Given the description of an element on the screen output the (x, y) to click on. 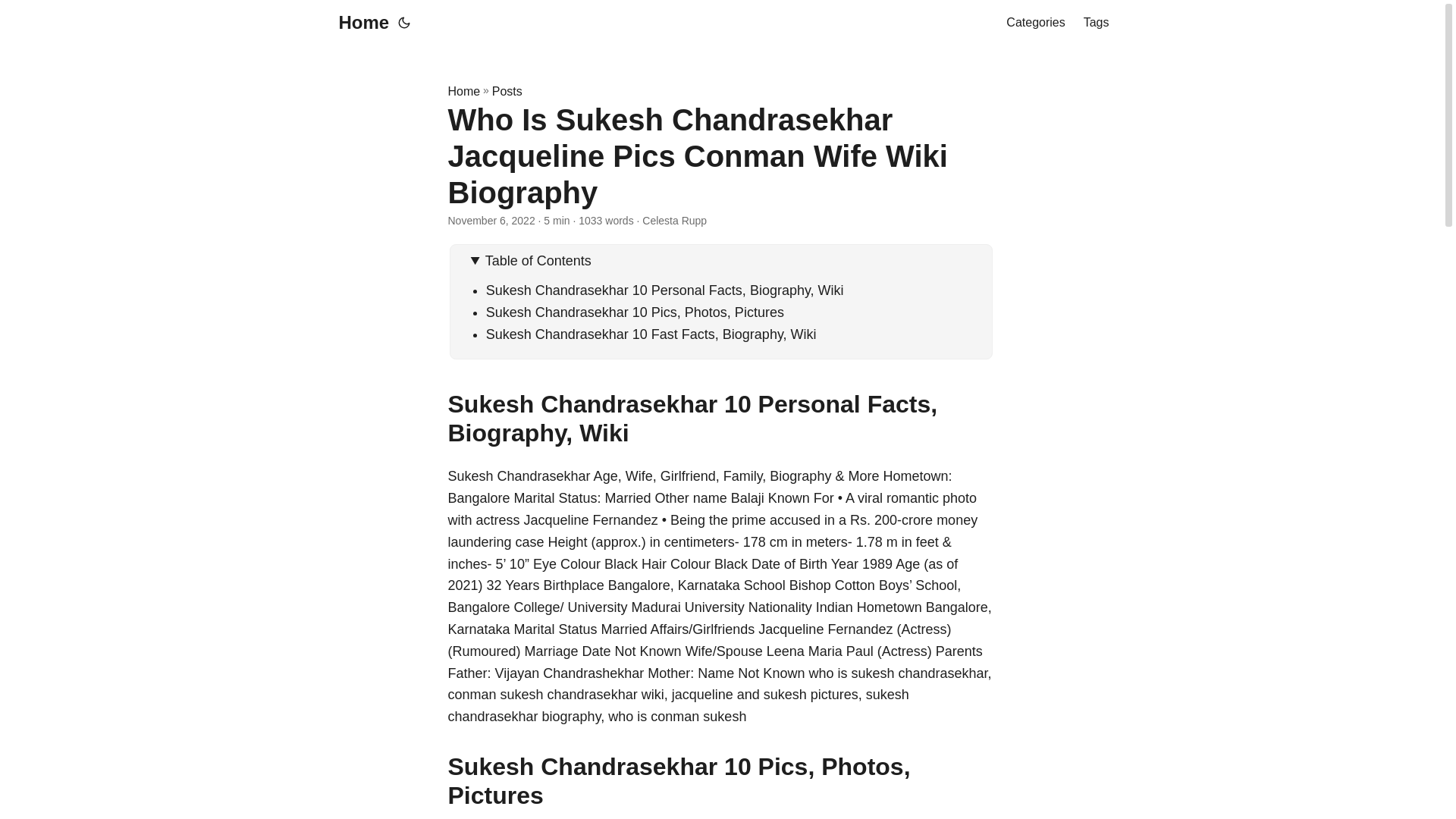
Sukesh Chandrasekhar 10 Fast Facts, Biography, Wiki (651, 334)
Sukesh Chandrasekhar 10 Personal Facts, Biography, Wiki (665, 290)
Home (359, 22)
Categories (1035, 22)
Categories (1035, 22)
Posts (507, 91)
Sukesh Chandrasekhar 10 Pics, Photos, Pictures (635, 312)
Home (463, 91)
